Given the description of an element on the screen output the (x, y) to click on. 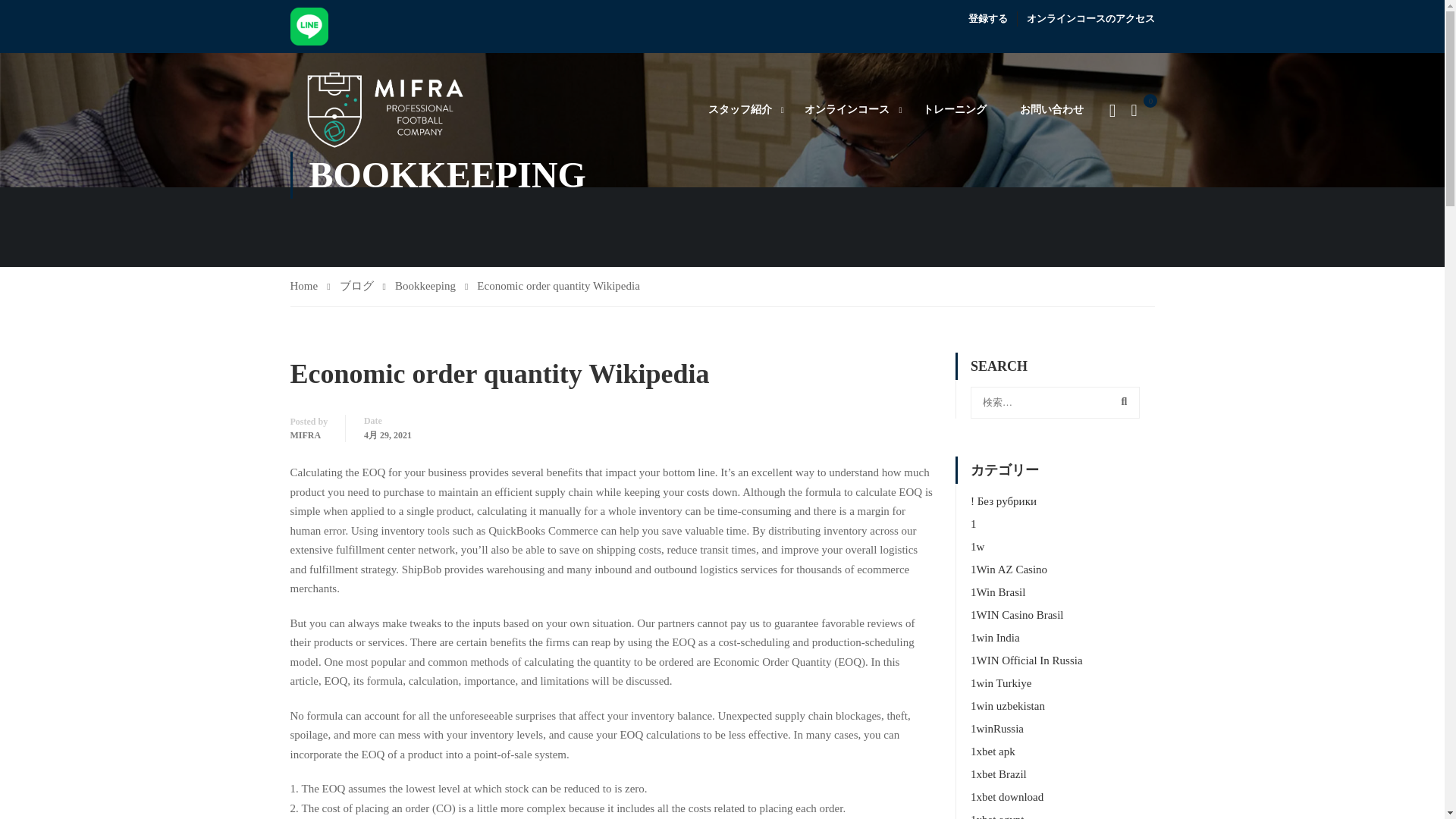
Home (309, 286)
MIFRA (304, 435)
Bookkeeping (430, 286)
